Given the description of an element on the screen output the (x, y) to click on. 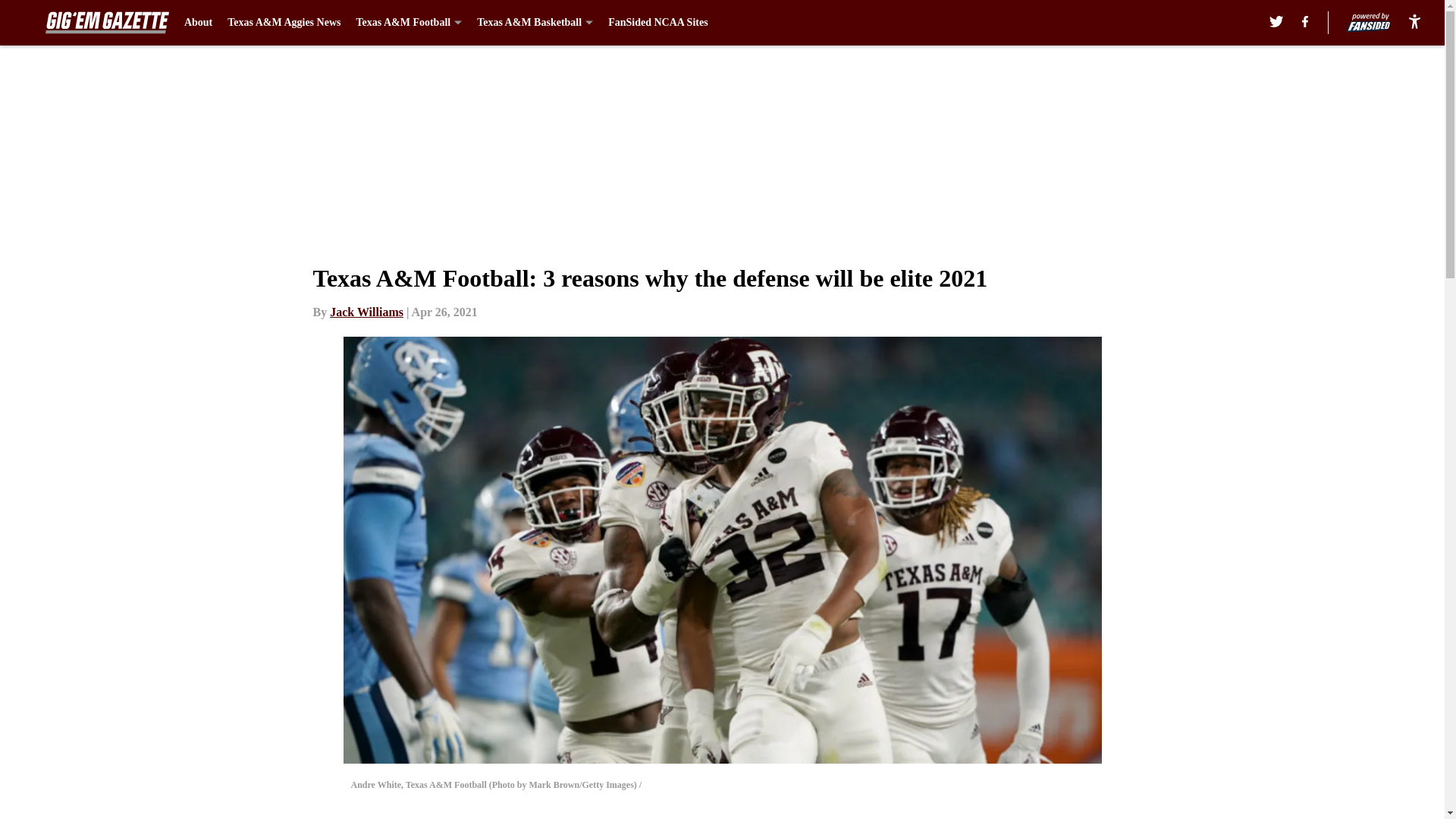
FanSided NCAA Sites (657, 22)
Jack Williams (366, 311)
About (198, 22)
